Given the description of an element on the screen output the (x, y) to click on. 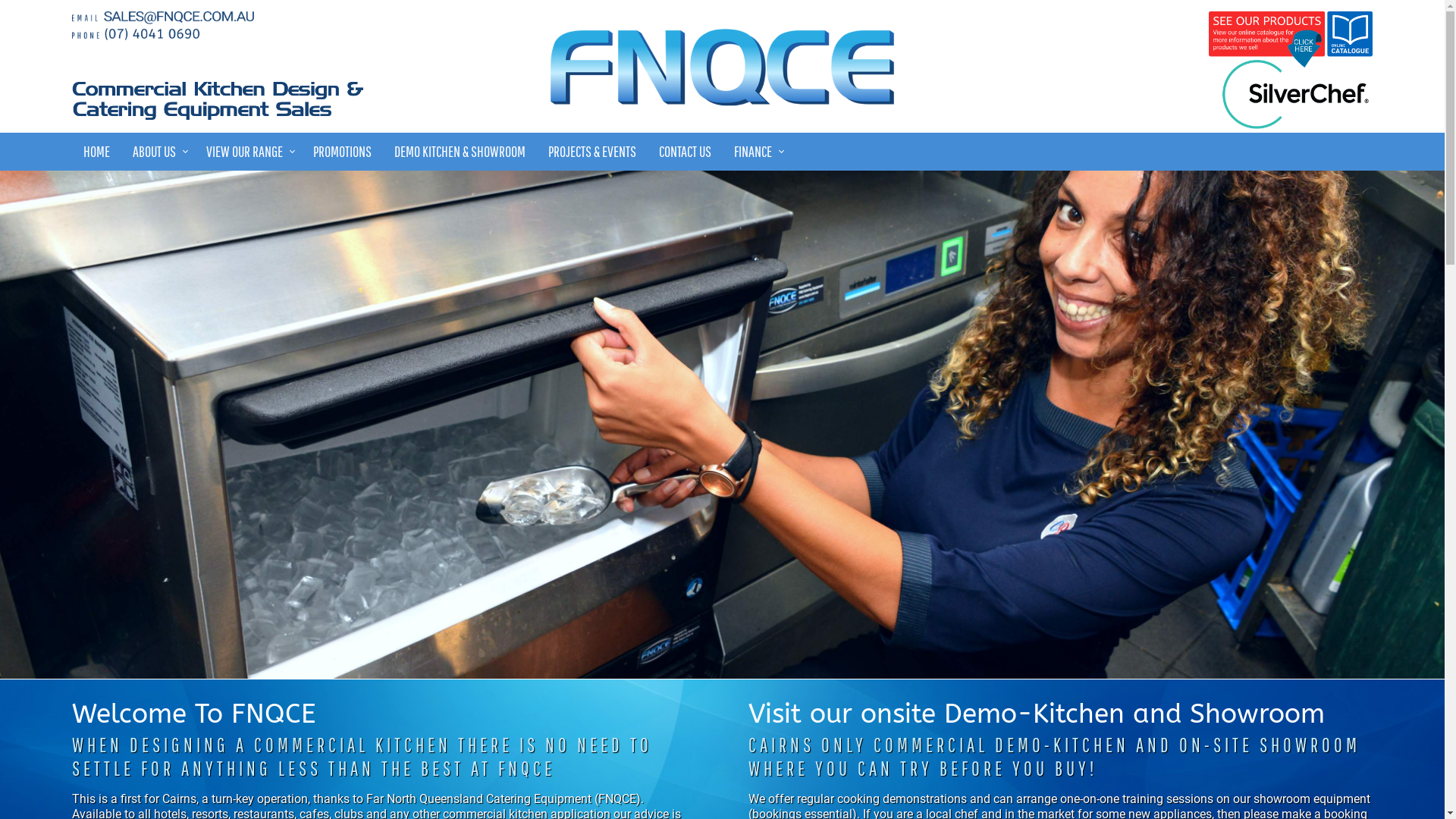
PROMOTIONS Element type: text (341, 151)
VIEW OUR RANGE Element type: text (247, 151)
PROJECTS & EVENTS Element type: text (591, 151)
CONTACT US Element type: text (684, 151)
HOME Element type: text (96, 151)
DEMO KITCHEN & SHOWROOM Element type: text (459, 151)
2 Element type: hover (722, 424)
ABOUT US Element type: text (157, 151)
FINANCE Element type: text (756, 151)
